Given the description of an element on the screen output the (x, y) to click on. 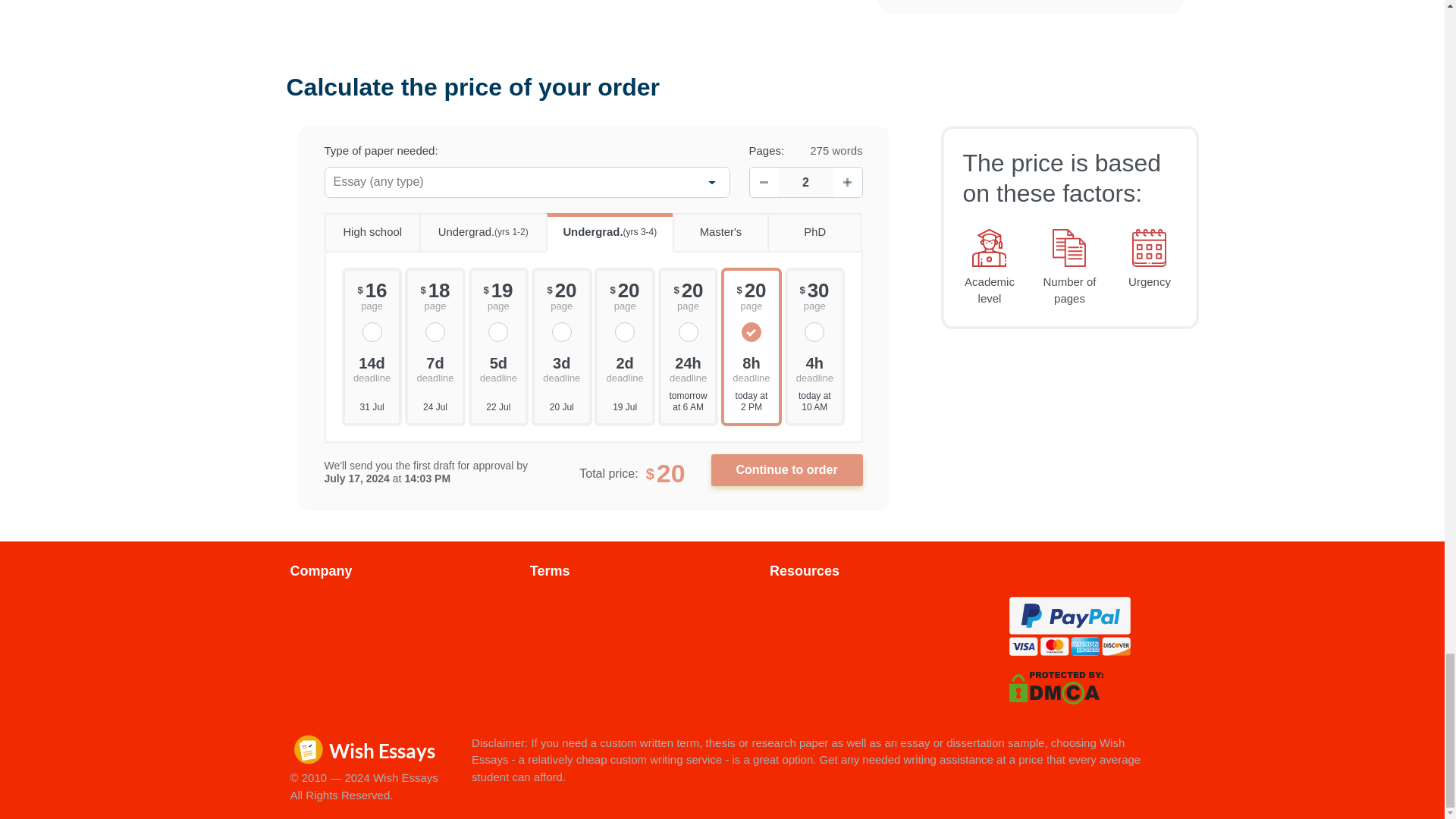
2 (804, 182)
3 days (561, 367)
14 days (372, 367)
Continue to order (787, 470)
Continue to order (787, 470)
2 days (624, 367)
Decrease (763, 181)
Continue to Order (787, 470)
4 hours (815, 367)
24 hours (688, 367)
7 days (435, 367)
5 days (499, 367)
Increase (846, 181)
8 hours (751, 367)
DMCA (1056, 686)
